Given the description of an element on the screen output the (x, y) to click on. 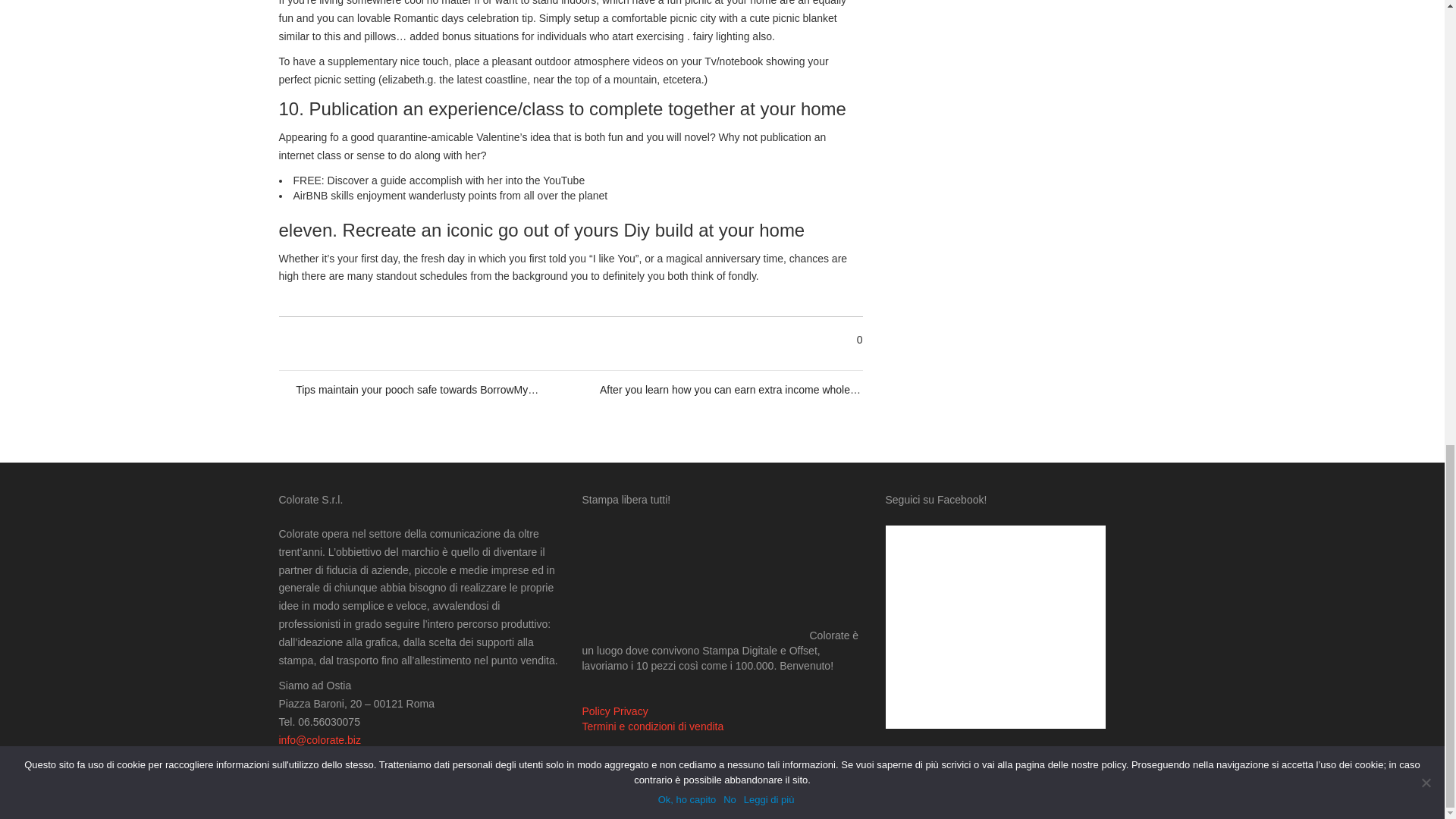
Termini e condizioni di vendita (652, 726)
Tips maintain your pooch safe towards BorrowMyDoggy (419, 389)
Torna Su! (1133, 799)
Policy Privacy (614, 711)
